Given the description of an element on the screen output the (x, y) to click on. 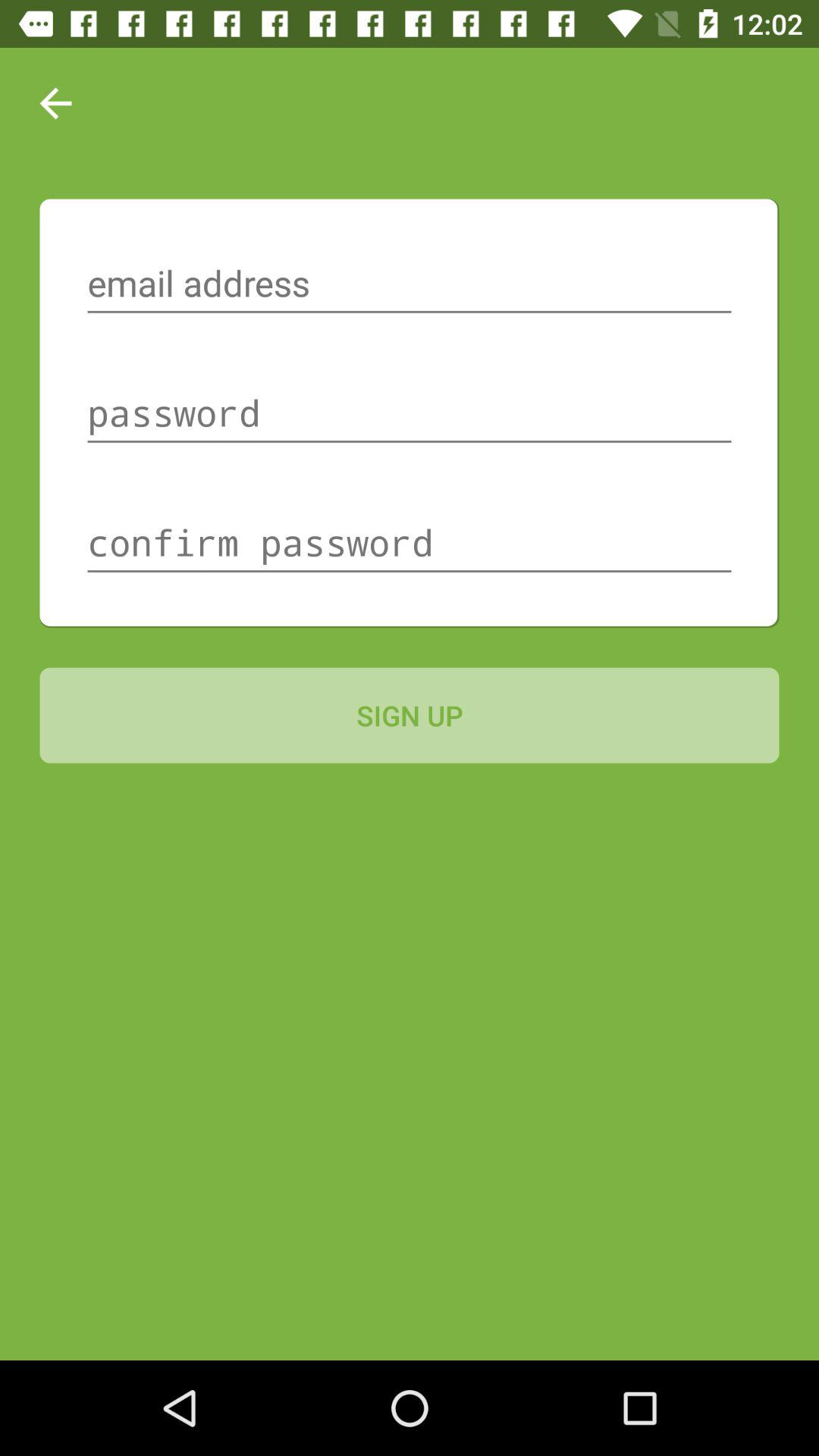
choose sign up (409, 715)
